Given the description of an element on the screen output the (x, y) to click on. 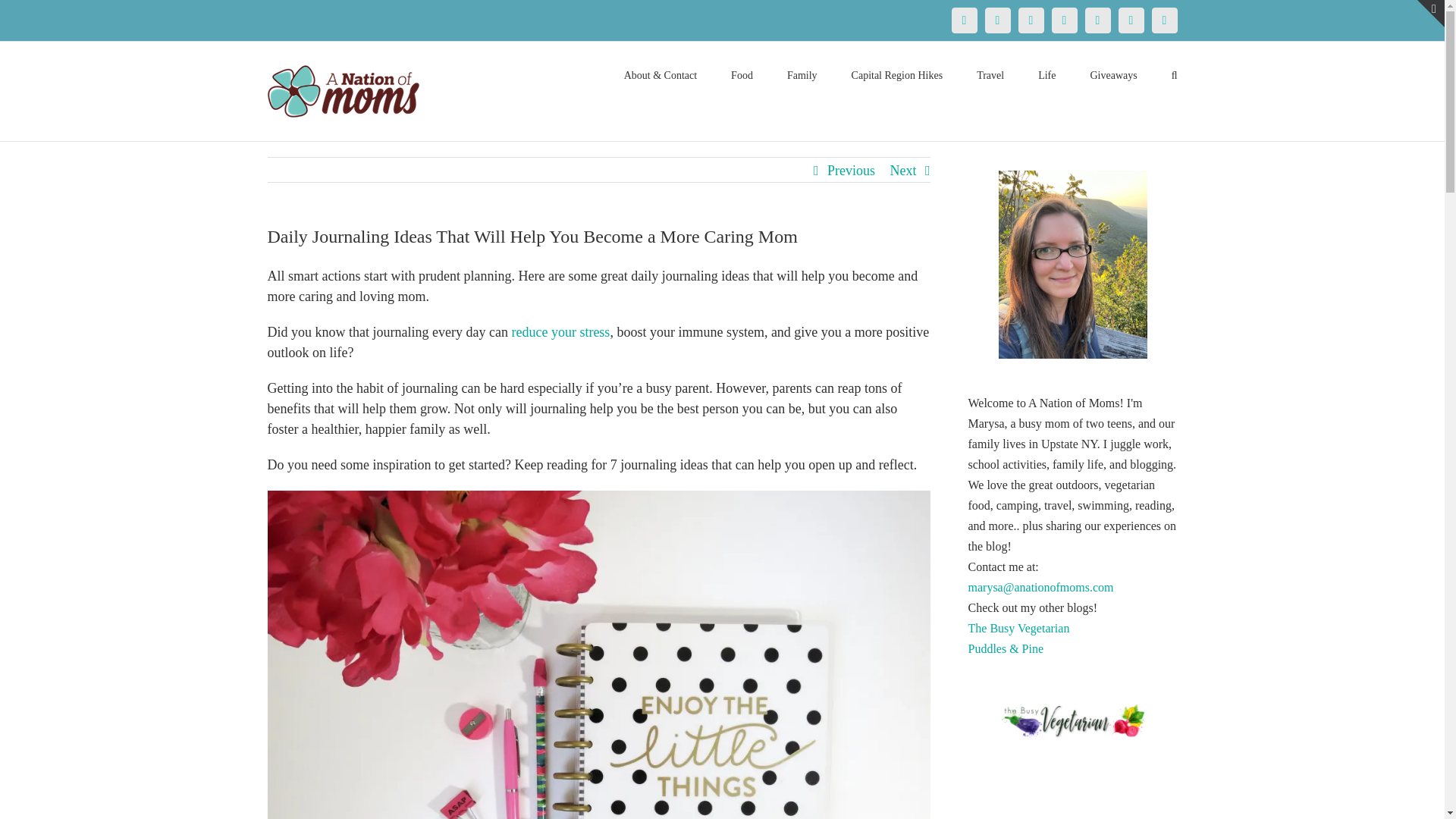
Twitter (997, 20)
Family (801, 74)
YouTube (1096, 20)
Facebook (963, 20)
Capital Region Hikes (897, 74)
Instagram (1064, 20)
Food (741, 74)
Email (1163, 20)
Pinterest (1030, 20)
Search (1174, 74)
